Given the description of an element on the screen output the (x, y) to click on. 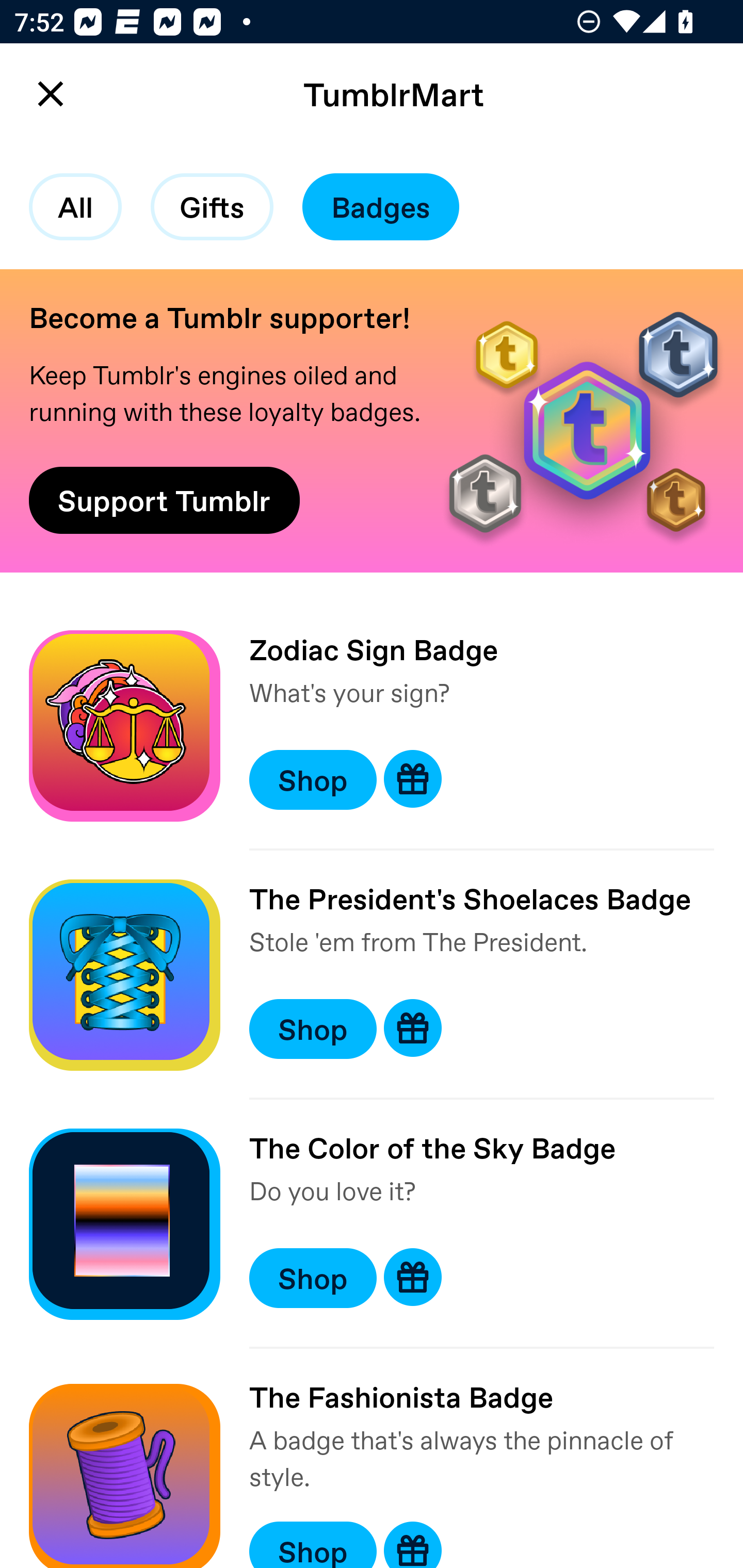
All (74, 206)
Gifts (211, 206)
Badges (380, 206)
Support Tumblr (163, 500)
Zodiac Sign Badge What's your sign? Shop (371, 725)
Shop (312, 779)
Shop (312, 1028)
The Color of the Sky Badge Do you love it? Shop (371, 1223)
Shop (312, 1277)
Shop (312, 1544)
